Given the description of an element on the screen output the (x, y) to click on. 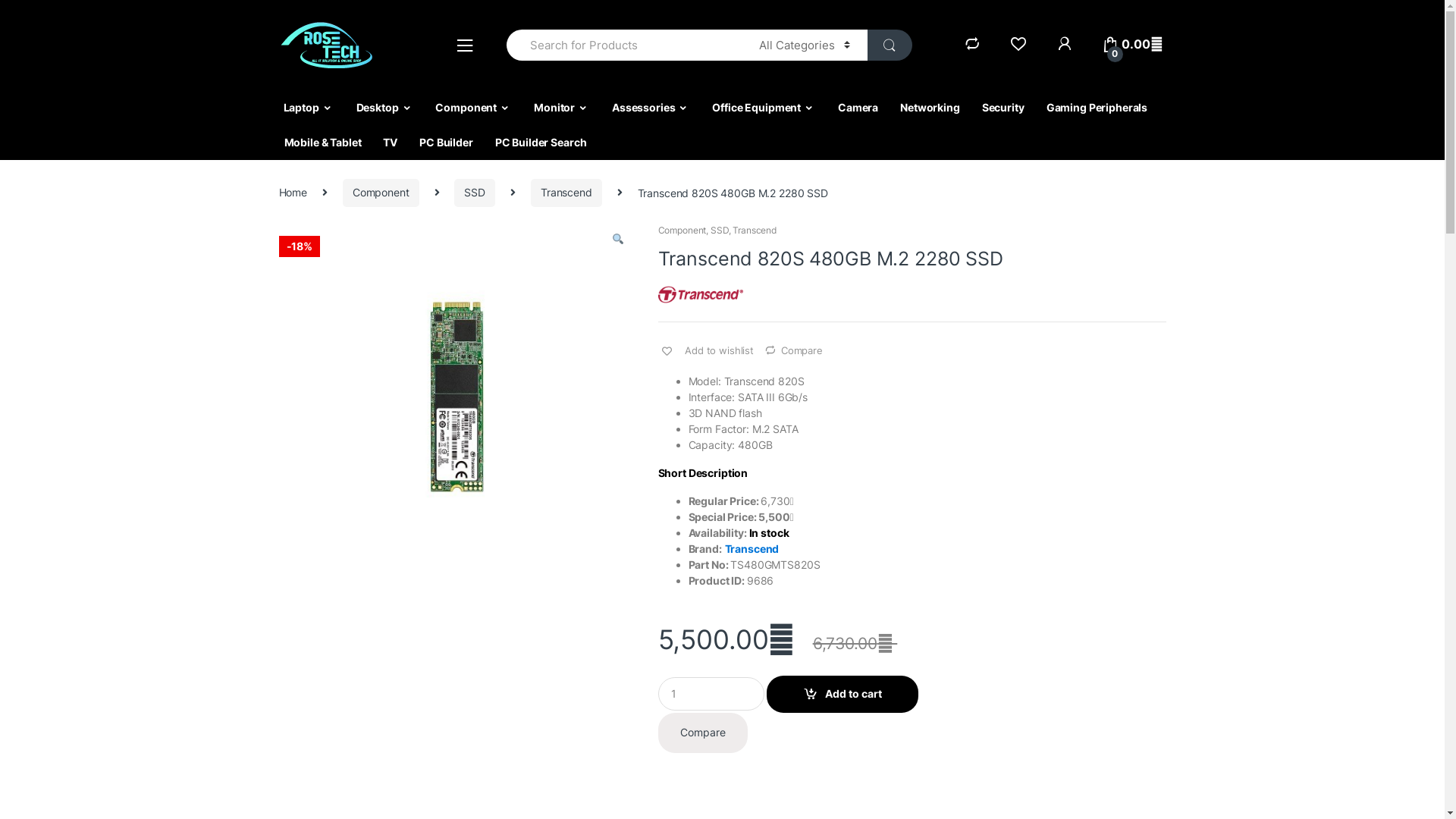
Transcend Element type: text (751, 548)
Mobile & Tablet Element type: text (322, 142)
SSD Element type: text (474, 192)
Transcend Element type: text (566, 192)
Transcend 820S 480GB SSD Element type: hover (457, 401)
Home Element type: text (293, 192)
Assessories Element type: text (650, 107)
Gaming Peripherals Element type: text (1096, 107)
Laptop Element type: text (309, 107)
SSD Element type: text (719, 229)
Monitor Element type: text (561, 107)
Add to wishlist Element type: text (707, 350)
Transcend Element type: text (754, 229)
Add to cart Element type: text (842, 693)
PC Builder Search Element type: text (540, 142)
PC Builder Element type: text (445, 142)
Security Element type: text (1002, 107)
Component Element type: text (682, 229)
Networking Element type: text (929, 107)
Compare Element type: text (703, 732)
Component Element type: text (380, 192)
Component Element type: text (472, 107)
Qty Element type: hover (711, 693)
Desktop Element type: text (384, 107)
Compare Element type: text (793, 345)
Camera Element type: text (857, 107)
TV Element type: text (389, 142)
Office Equipment Element type: text (763, 107)
